Given the description of an element on the screen output the (x, y) to click on. 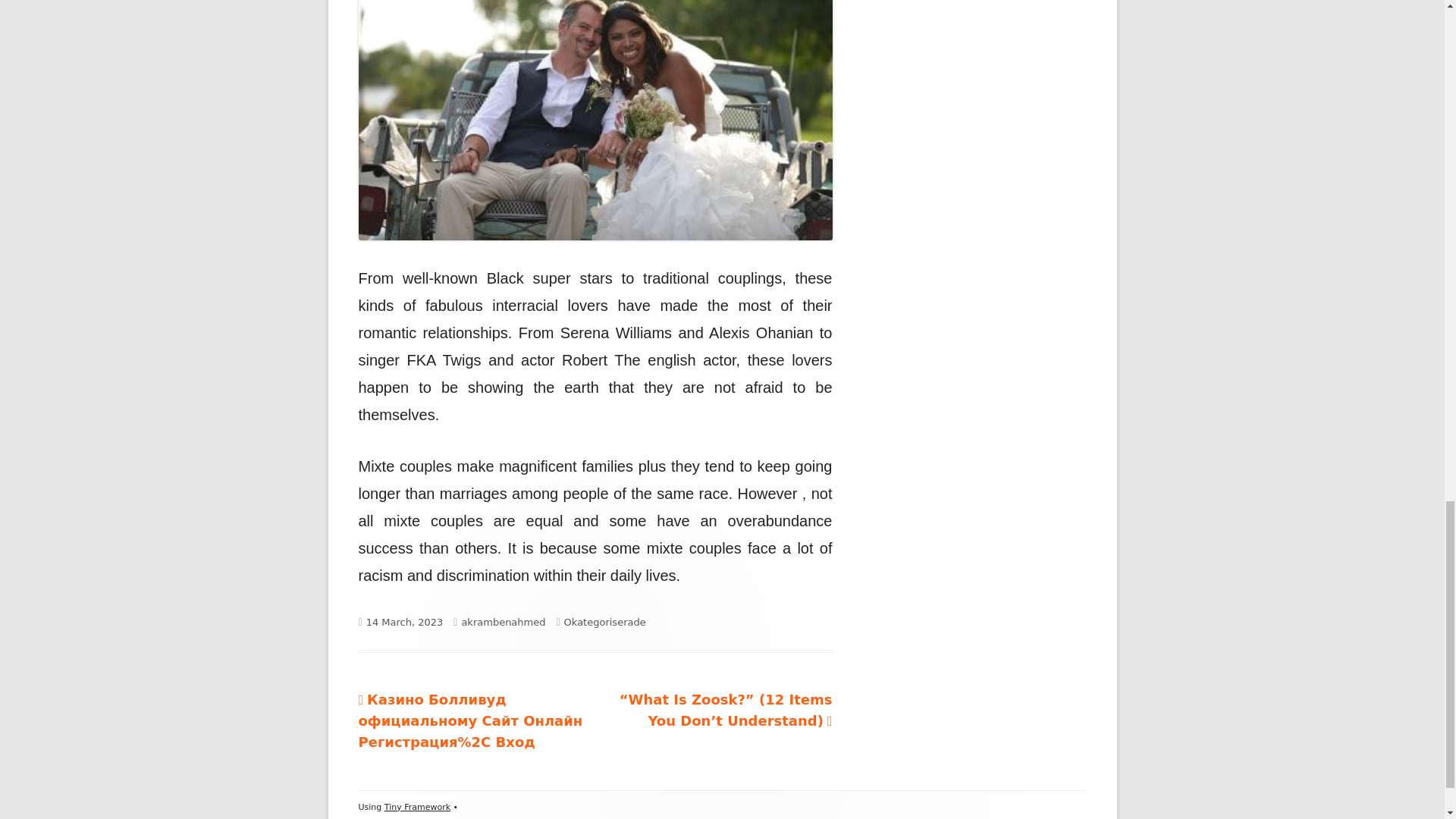
akrambenahmed (502, 622)
14 March, 2023 (405, 622)
Okategoriserade (605, 622)
